Given the description of an element on the screen output the (x, y) to click on. 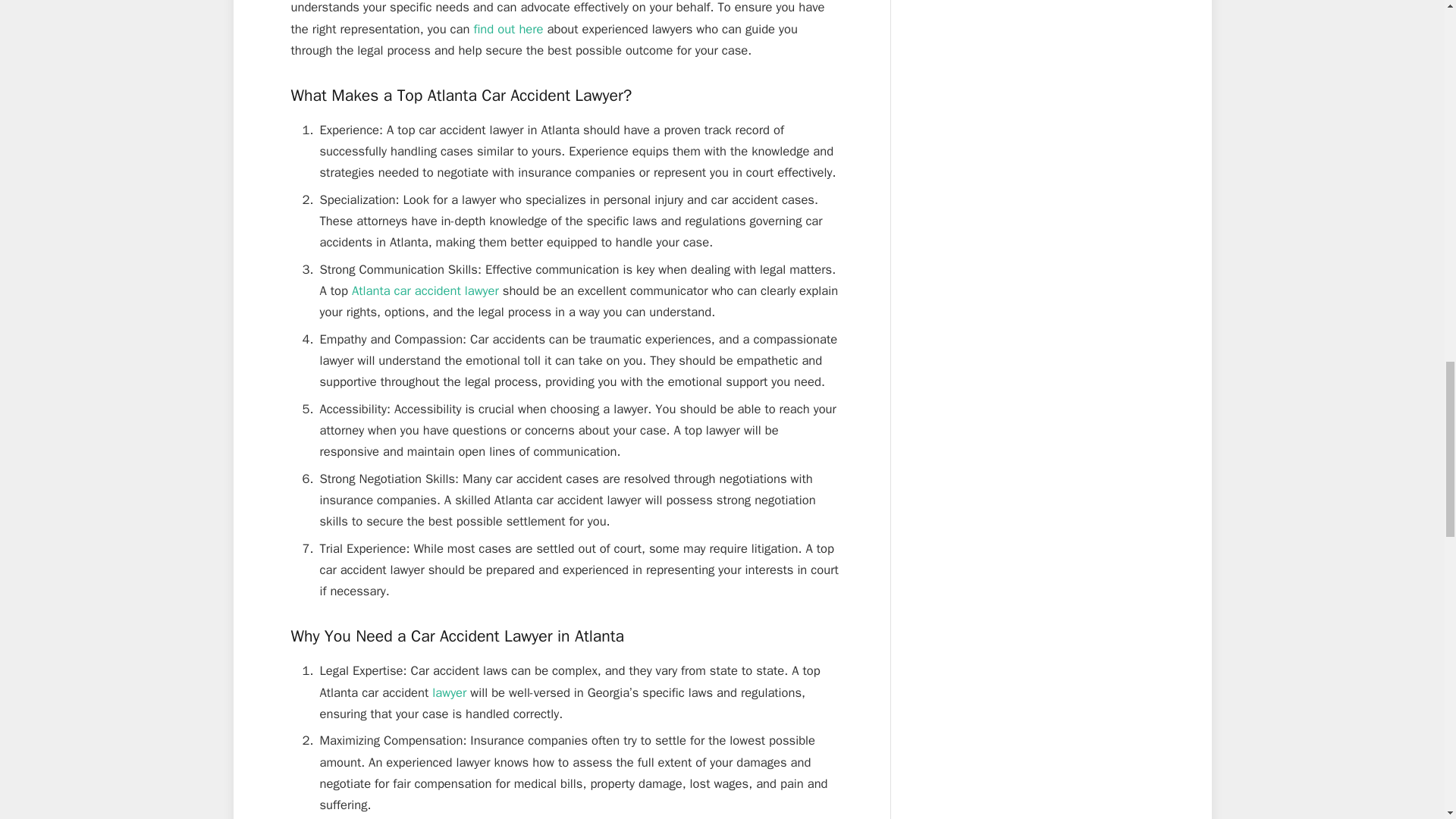
lawyer (448, 692)
Atlanta car accident lawyer (425, 290)
find out here (508, 28)
